Given the description of an element on the screen output the (x, y) to click on. 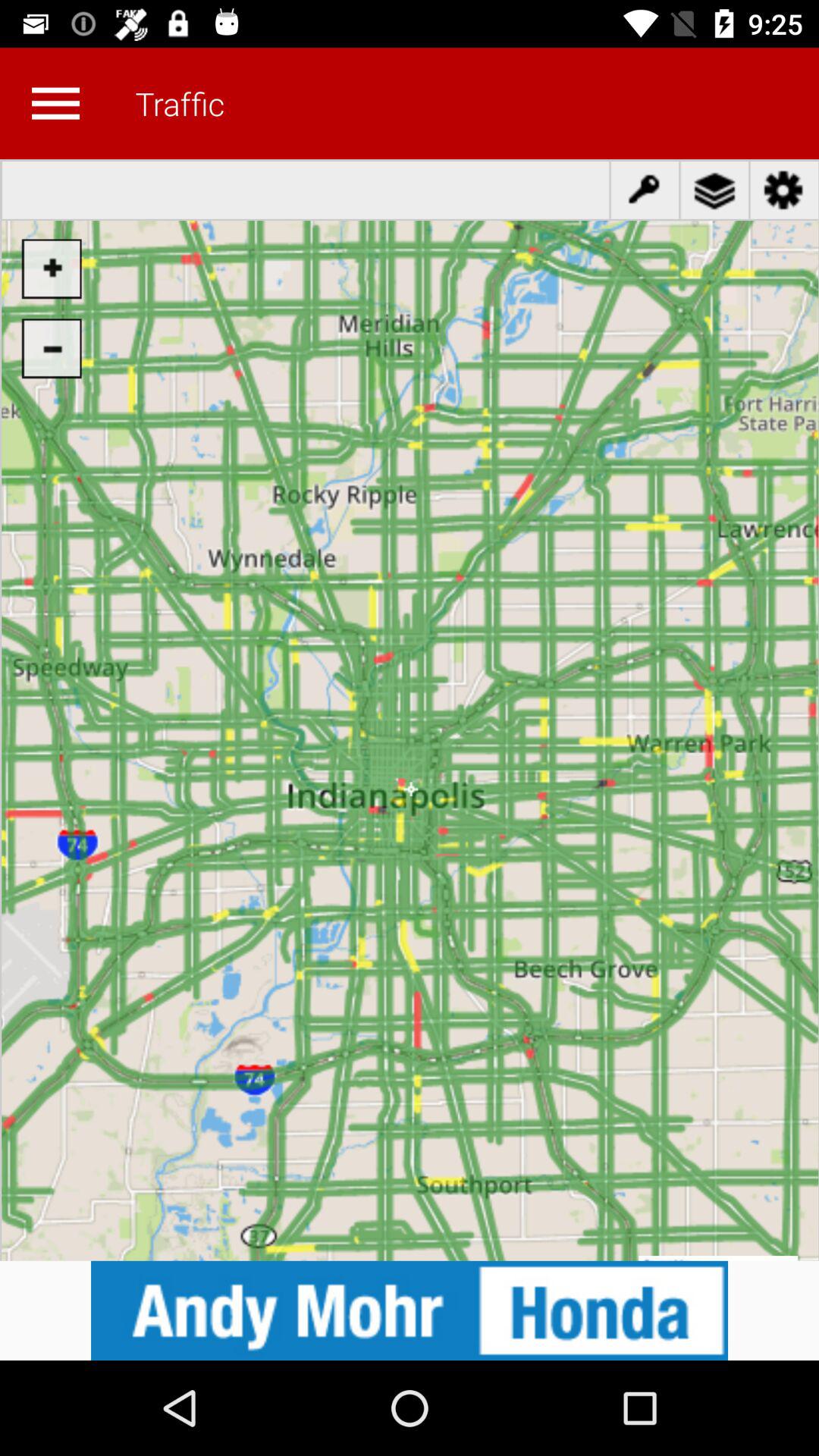
click the item to the left of traffic (55, 103)
